Given the description of an element on the screen output the (x, y) to click on. 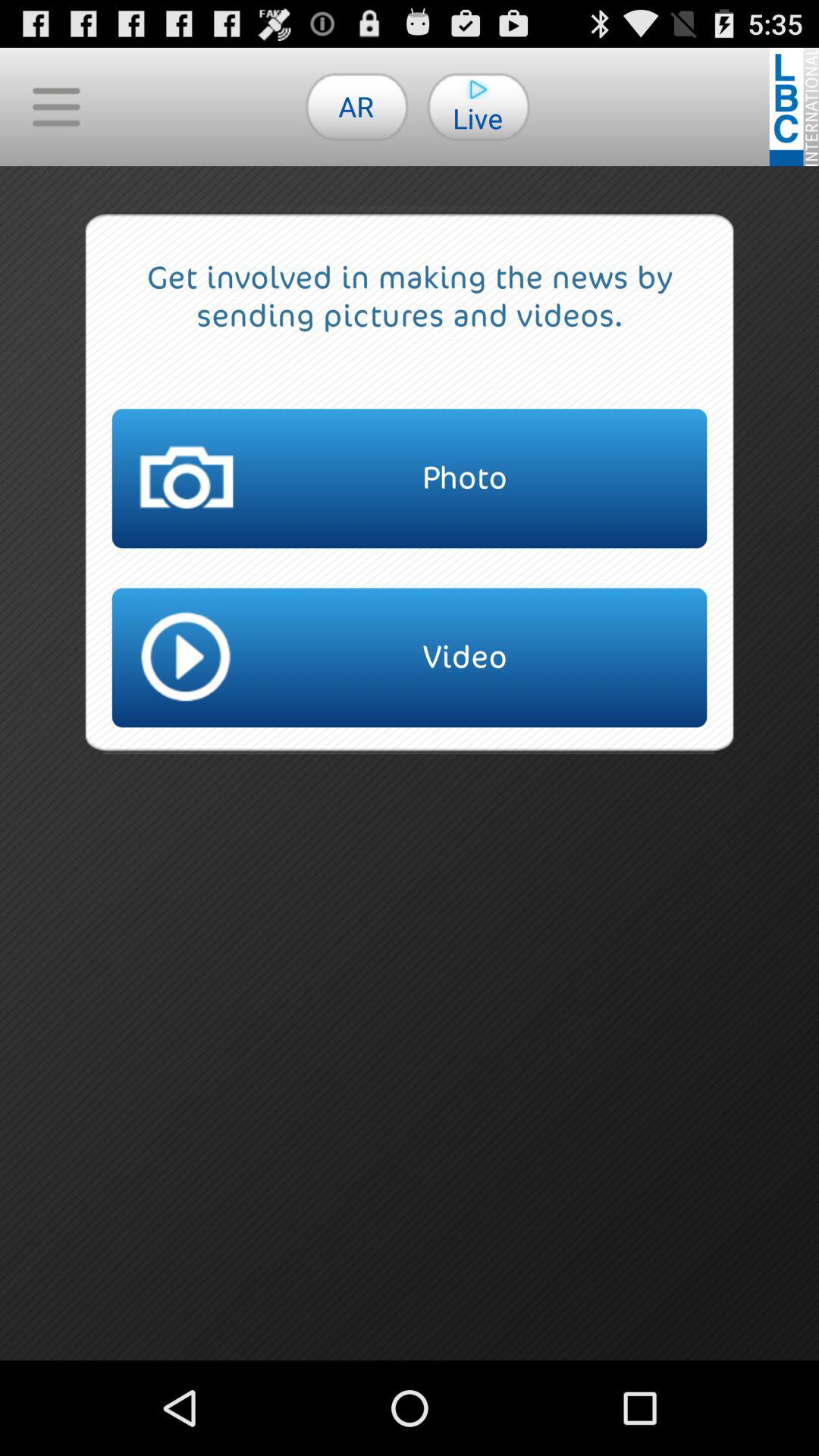
turn off the video (409, 657)
